Given the description of an element on the screen output the (x, y) to click on. 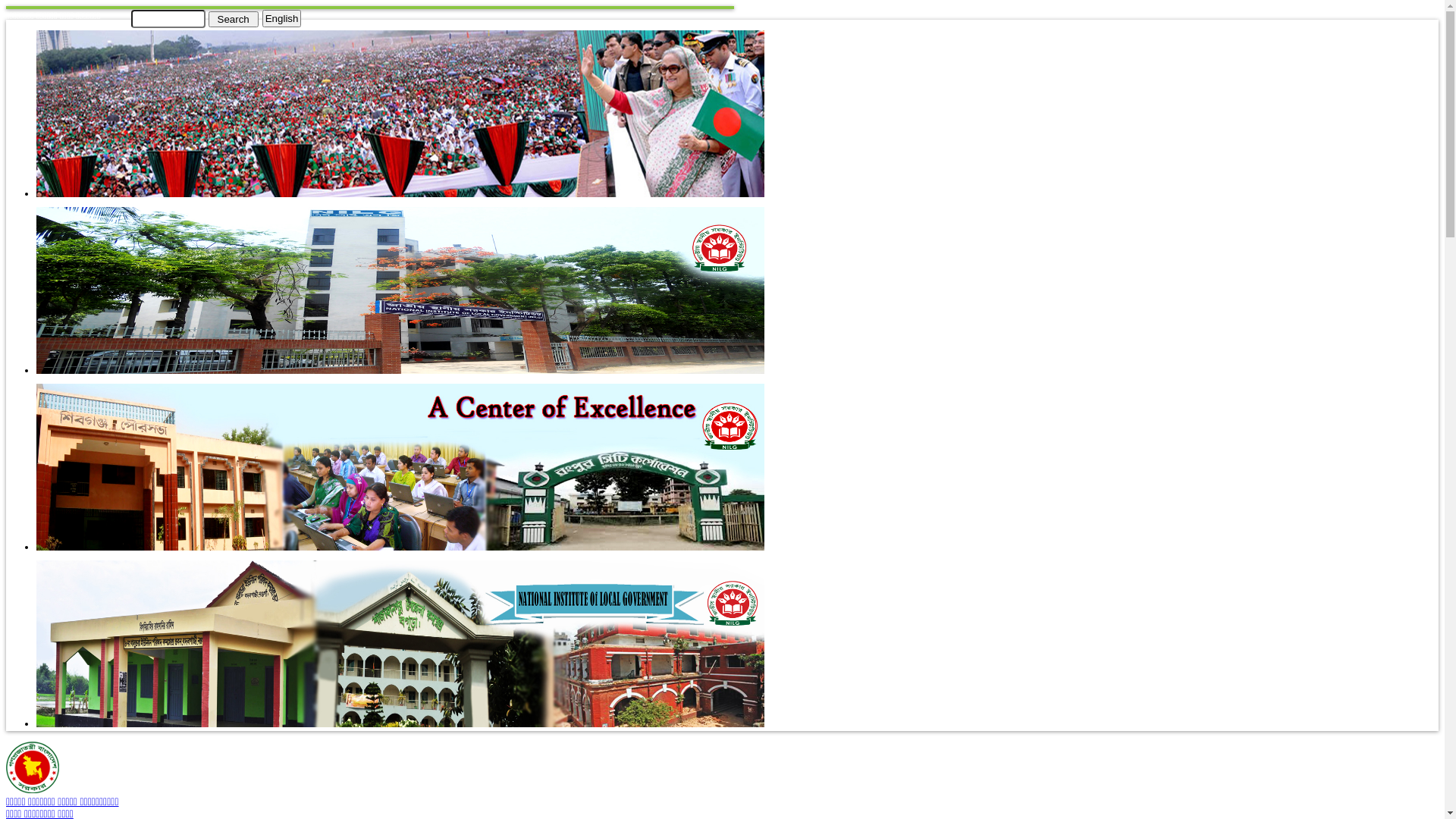
Home Element type: hover (32, 789)
English Element type: text (281, 18)
Search Element type: text (232, 18)
